Given the description of an element on the screen output the (x, y) to click on. 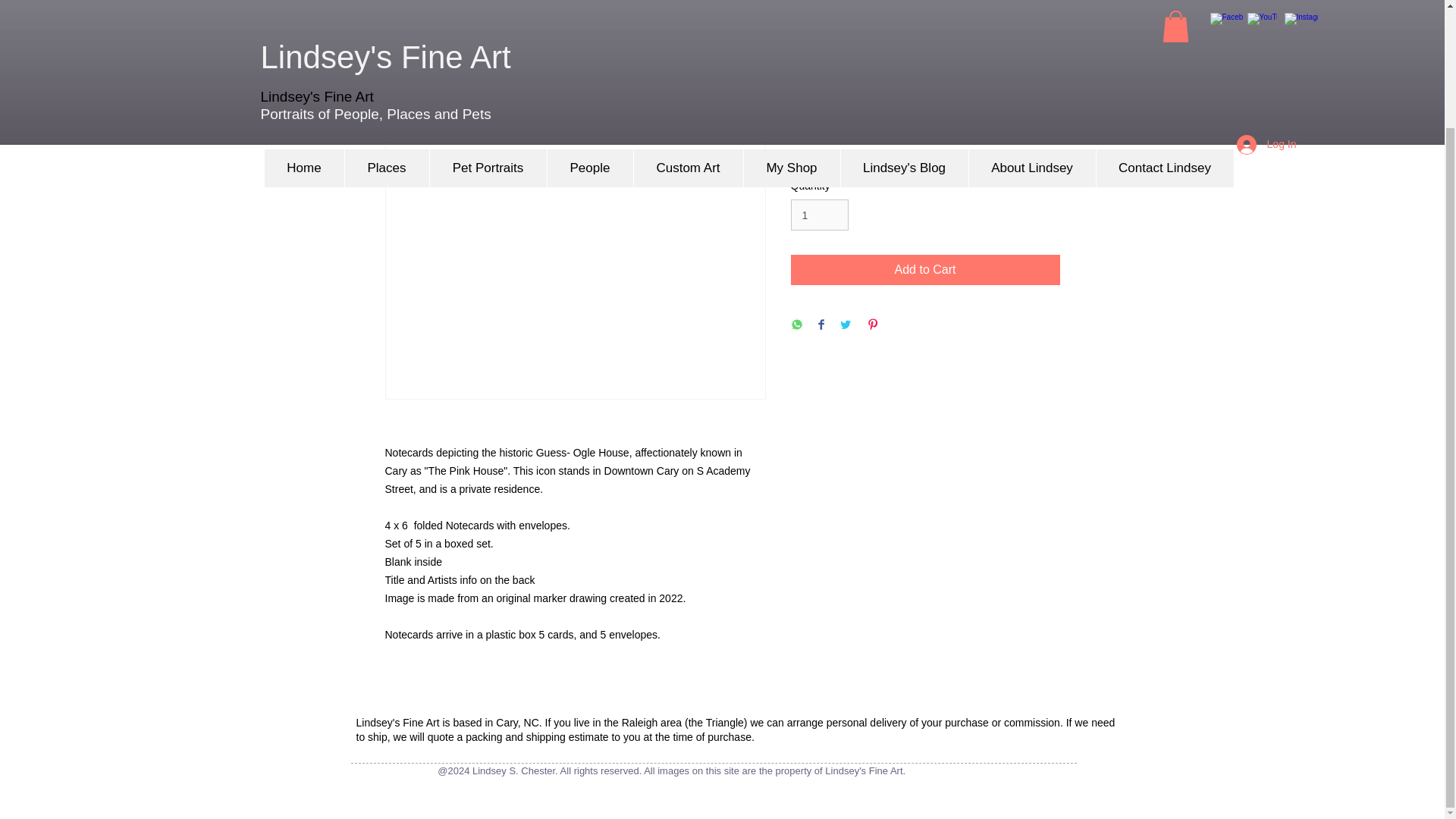
Contact Lindsey (1163, 27)
People (588, 27)
Places (386, 27)
Home (303, 27)
Custom Art (686, 27)
Log In (1266, 9)
My Shop (791, 27)
About Lindsey (1031, 27)
Add to Cart (924, 269)
Lindsey's Blog (904, 27)
